Given the description of an element on the screen output the (x, y) to click on. 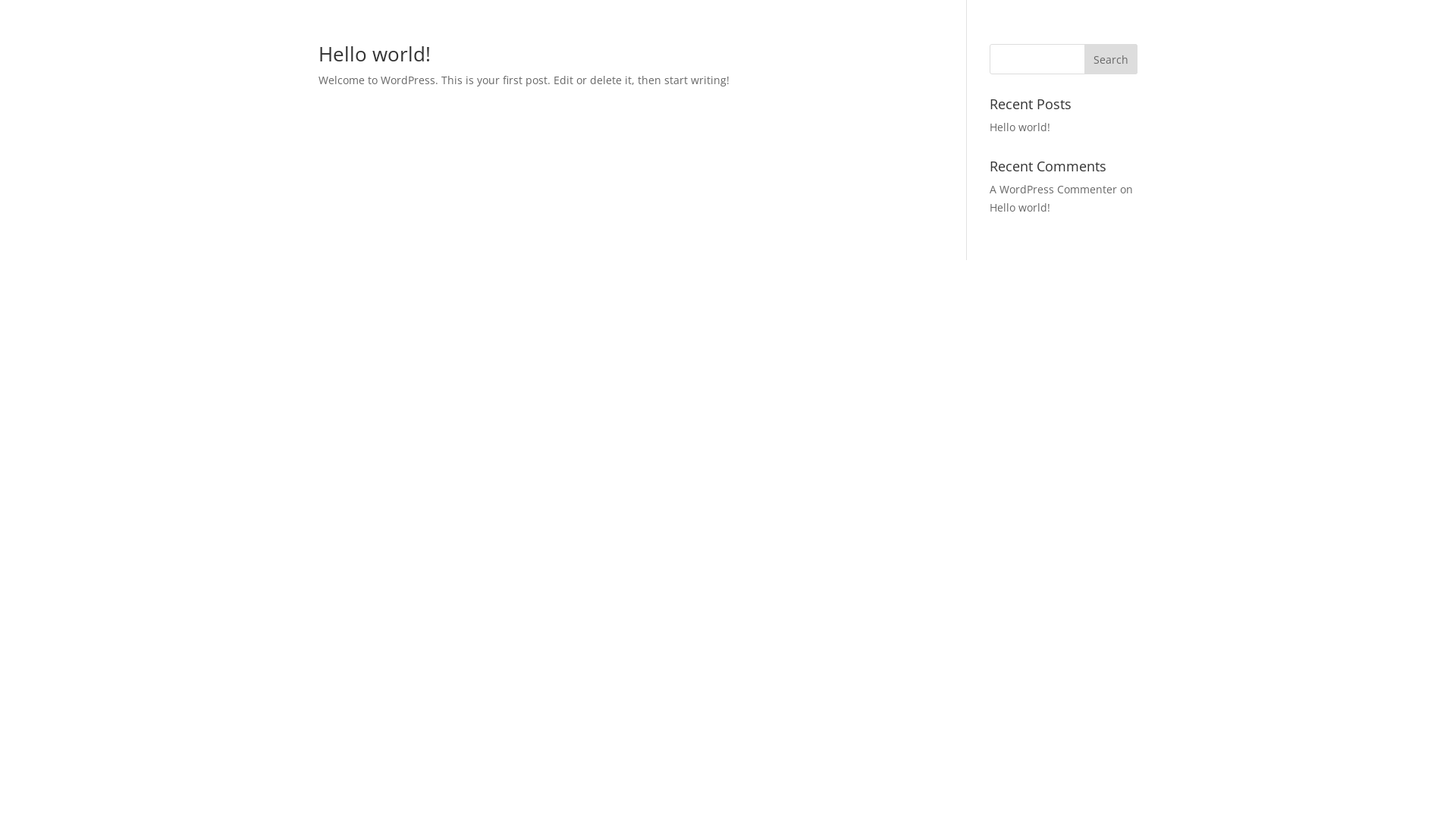
Hello world! Element type: text (374, 53)
Hello world! Element type: text (1019, 207)
Search Element type: text (1110, 58)
A WordPress Commenter Element type: text (1053, 189)
Hello world! Element type: text (1019, 126)
